Given the description of an element on the screen output the (x, y) to click on. 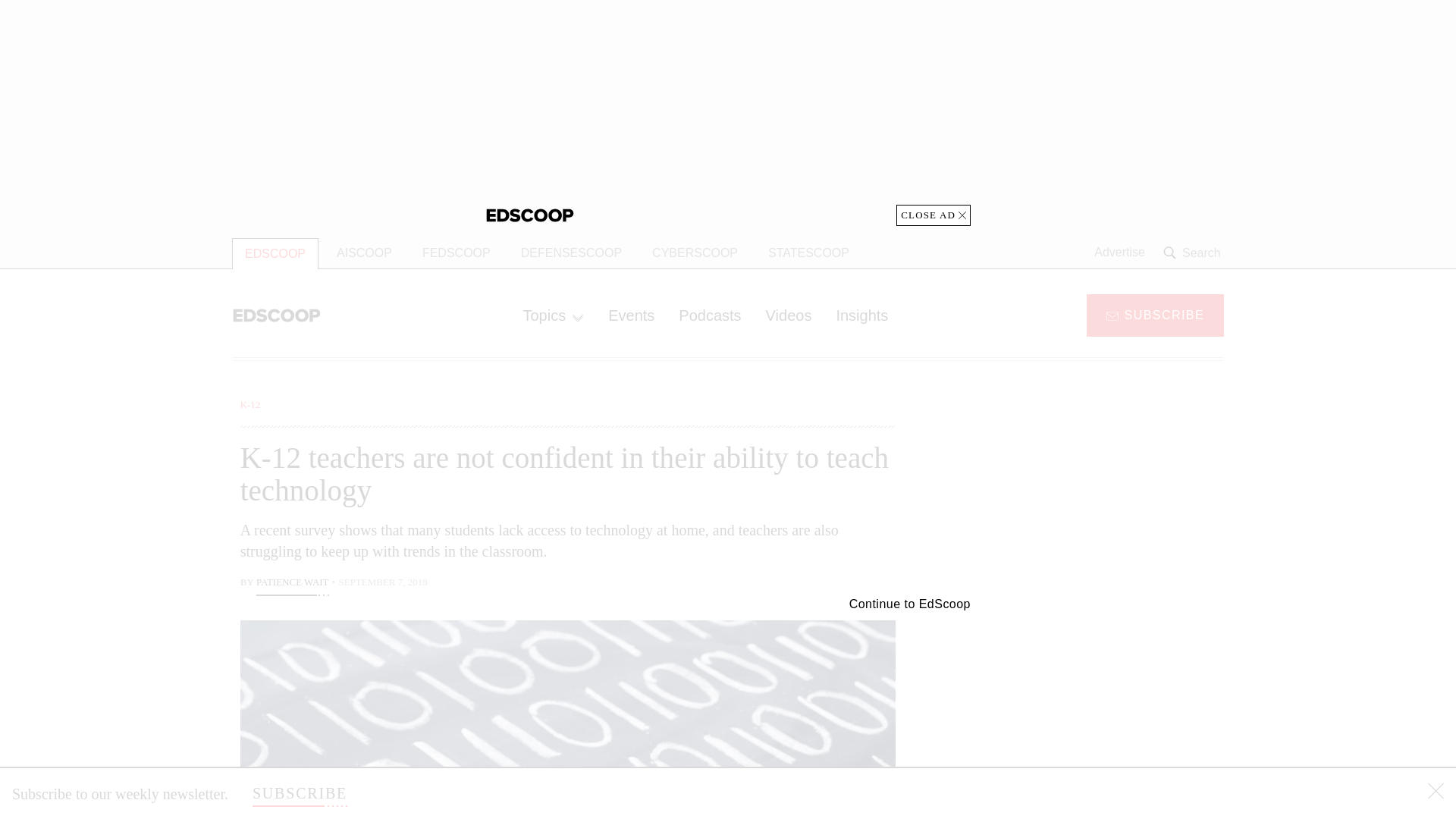
STATESCOOP (808, 253)
SUBSCRIBE (299, 793)
Events (630, 315)
CLOSE (1436, 793)
3rd party ad content (1101, 705)
CYBERSCOOP (694, 253)
Topics (553, 315)
K-12 (250, 404)
3rd party ad content (1101, 492)
PATIENCE WAIT (292, 583)
SUBSCRIBE (1155, 314)
EDSCOOP (274, 253)
